Given the description of an element on the screen output the (x, y) to click on. 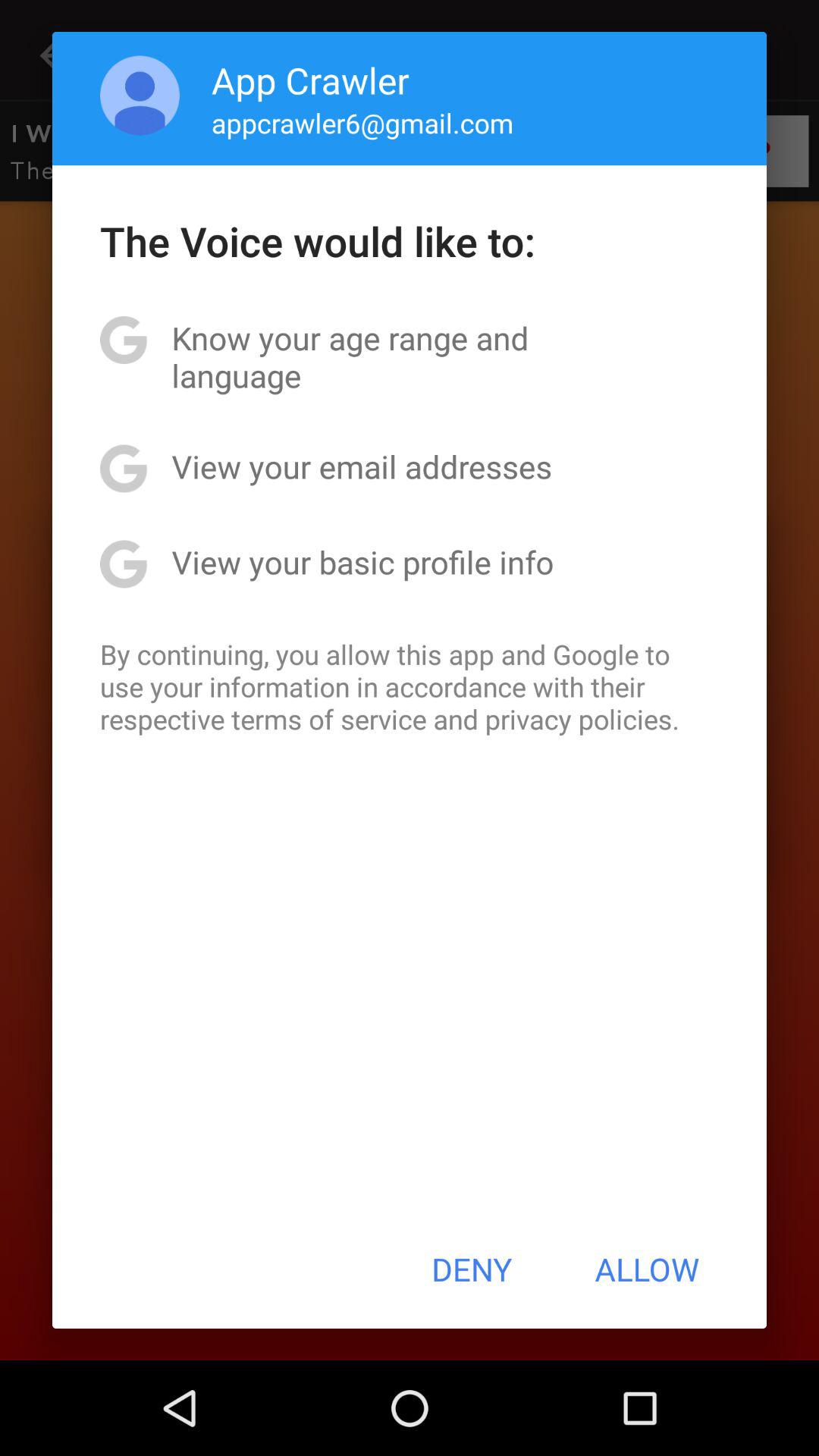
open the icon to the left of allow item (471, 1268)
